Given the description of an element on the screen output the (x, y) to click on. 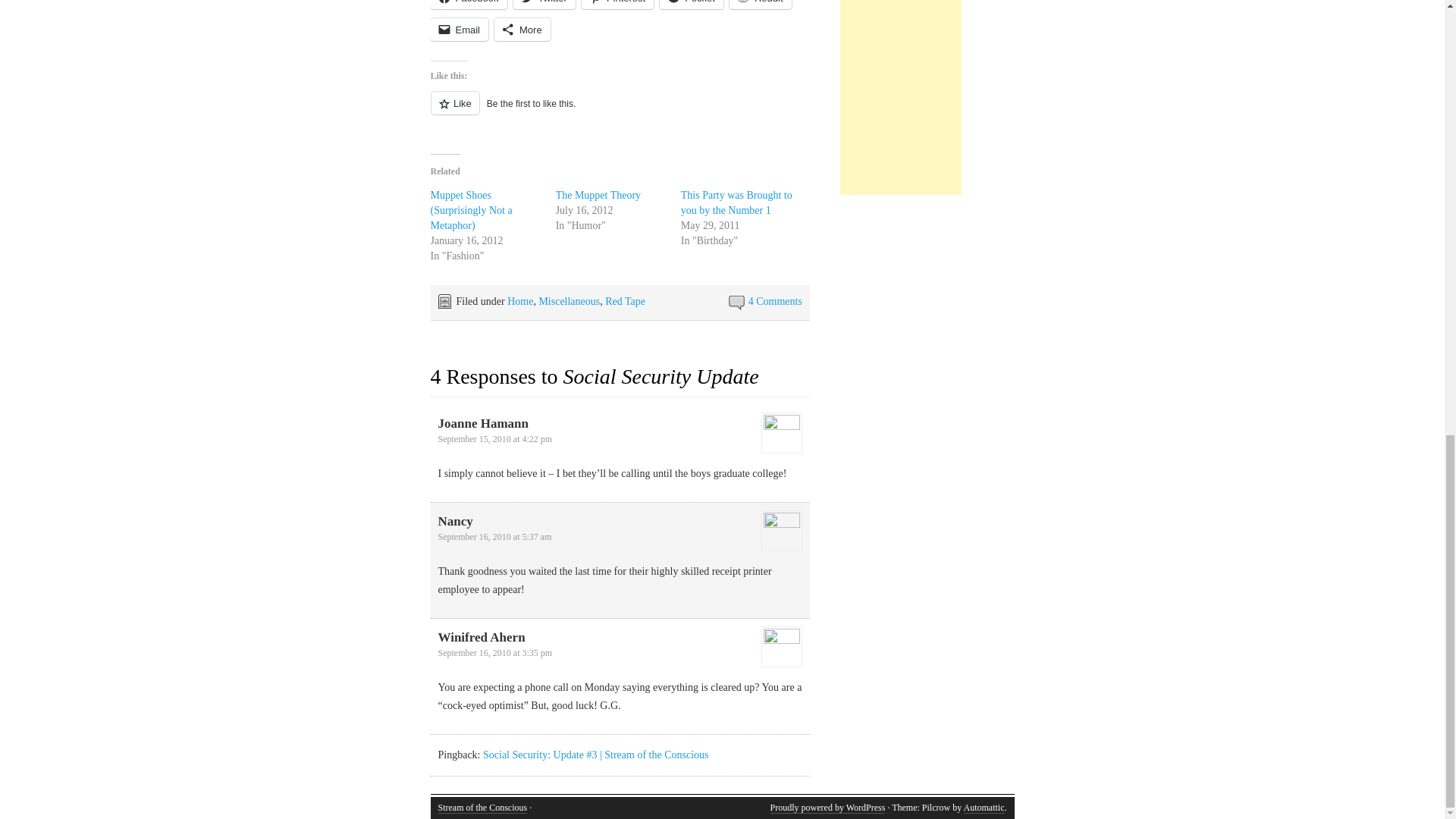
Click to share on Pocket (691, 4)
September 16, 2010 at 3:35 pm (495, 652)
Click to share on Pinterest (616, 4)
4 Comments (775, 301)
Click to share on Reddit (760, 4)
This Party was Brought to you by the Number 1 (736, 202)
More (522, 29)
Twitter (544, 4)
September 15, 2010 at 4:22 pm (495, 439)
Click to share on Twitter (544, 4)
